Given the description of an element on the screen output the (x, y) to click on. 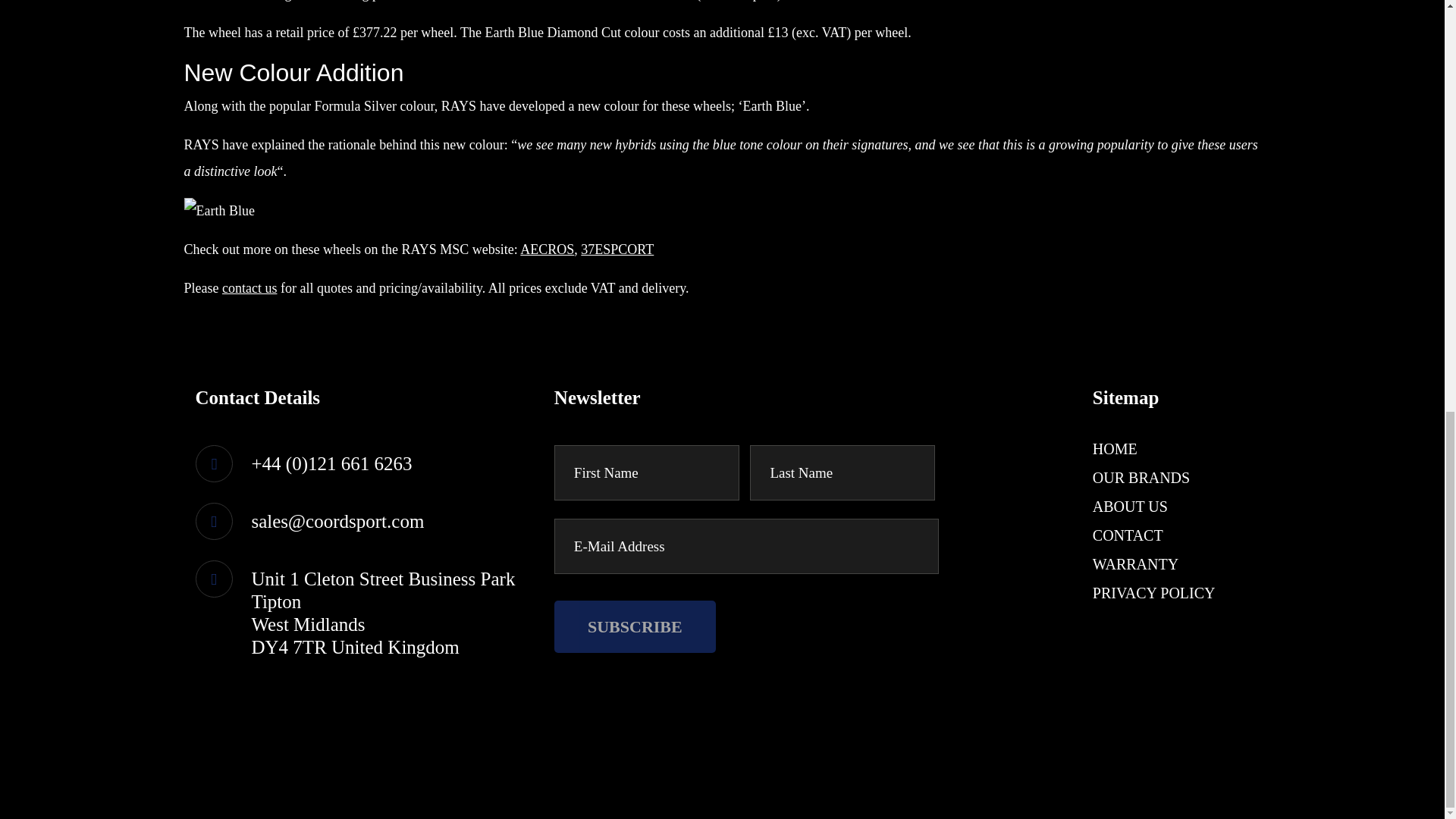
PRIVACY POLICY (1154, 593)
WARRANTY (1135, 564)
ABOUT US (1130, 506)
CONTACT (1128, 535)
AECROS (546, 249)
detailed specs (738, 0)
contact us (249, 287)
37ESPCORT (616, 249)
HOME (1115, 449)
SUBSCRIBE (635, 626)
